Given the description of an element on the screen output the (x, y) to click on. 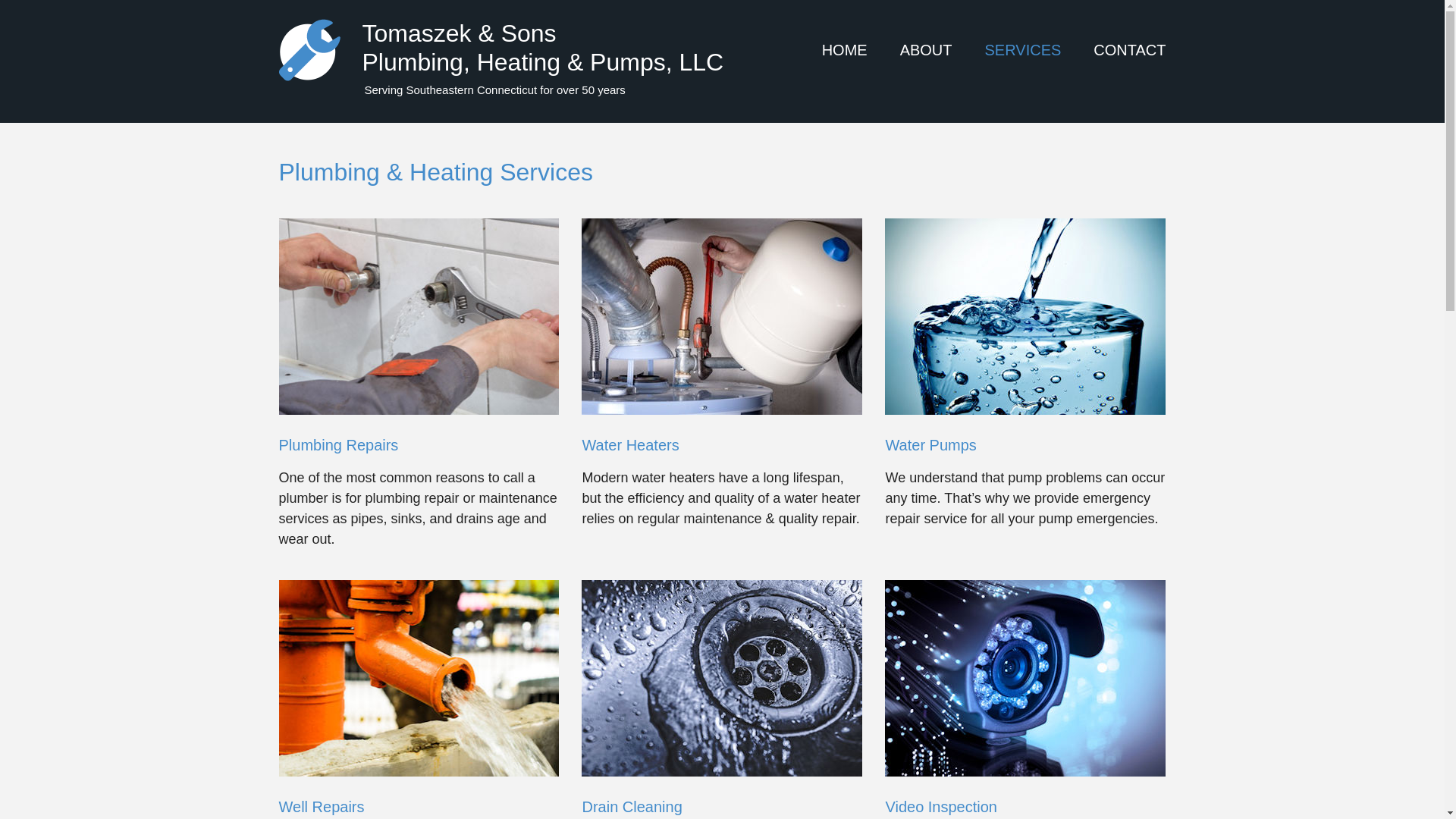
ABOUT (925, 50)
HOME (844, 50)
SERVICES (1023, 50)
CONTACT (1129, 50)
